Given the description of an element on the screen output the (x, y) to click on. 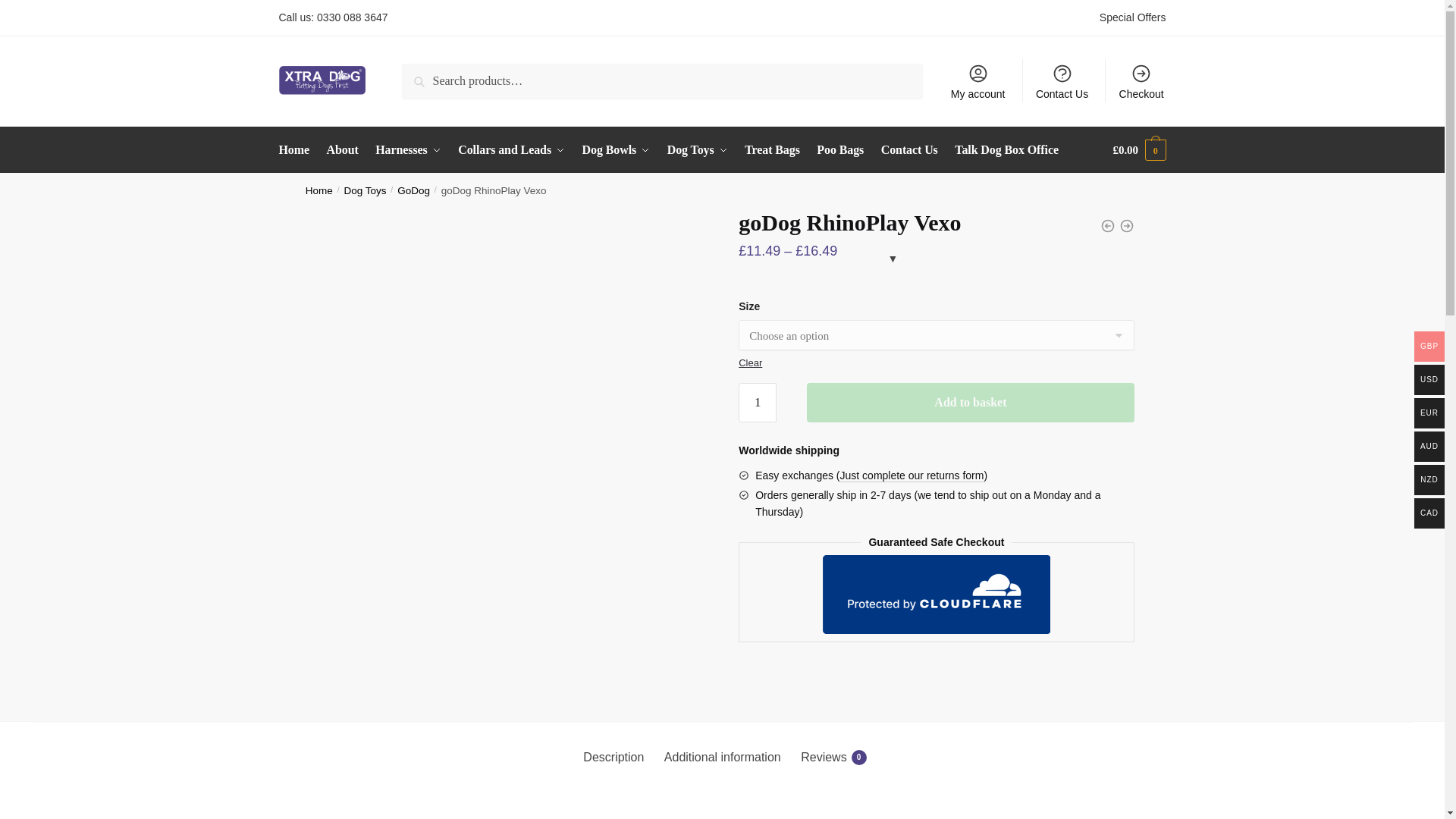
View your shopping cart (1139, 149)
About (342, 149)
Dog Bowls (615, 149)
Harnesses (407, 149)
Checkout (1141, 80)
Special Offers (1132, 17)
Treat Bags (772, 149)
Contact Us (1061, 80)
Call us: 0330 088 3647 (333, 17)
1 (757, 402)
Talk Dog Box Office (1005, 149)
Dog Toys (698, 149)
My account (978, 80)
Contact Us (909, 149)
Collars and Leads (510, 149)
